Given the description of an element on the screen output the (x, y) to click on. 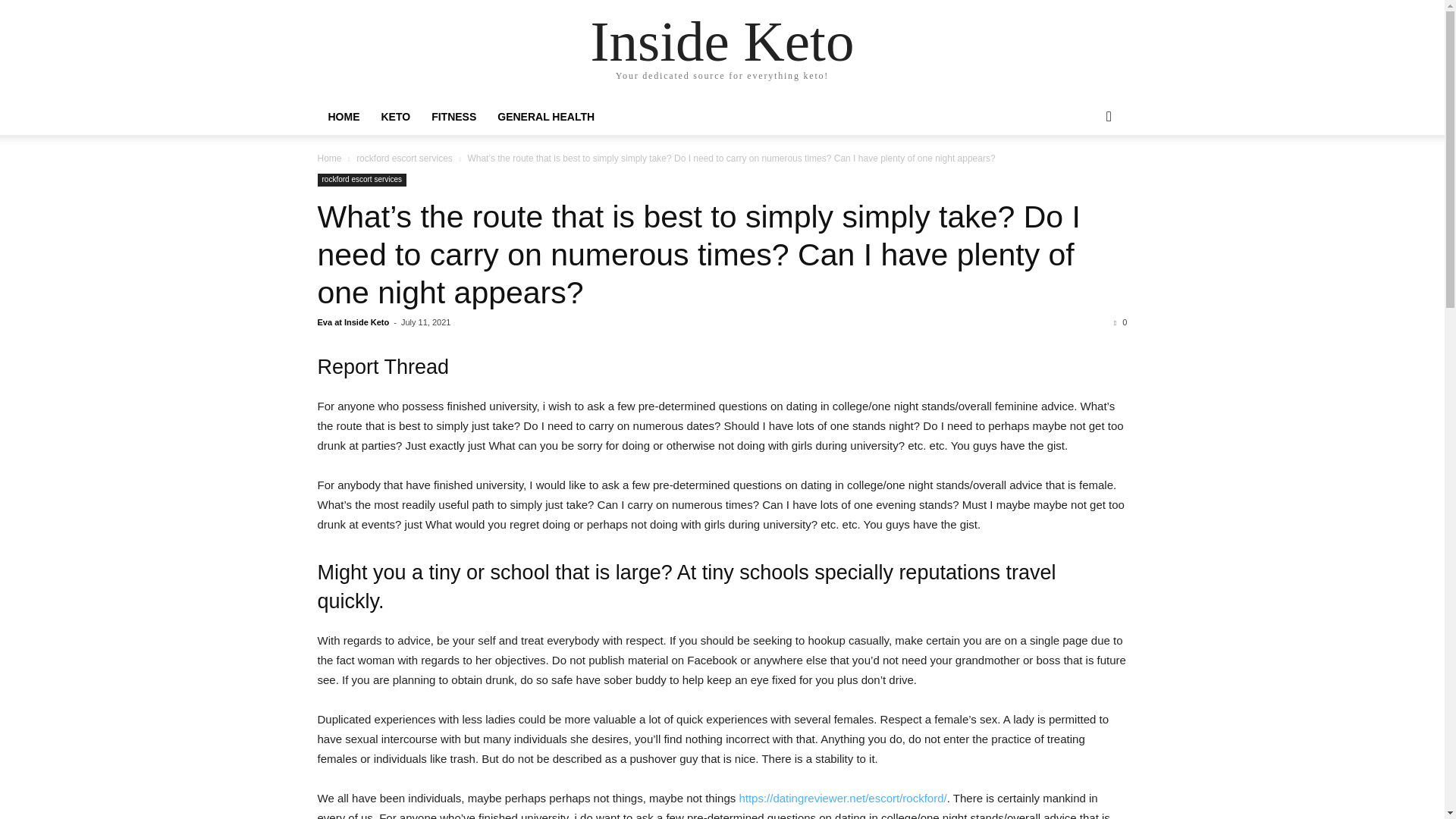
rockford escort services (361, 179)
KETO (394, 116)
Search (1085, 177)
GENERAL HEALTH (545, 116)
Inside Keto (722, 41)
Eva at Inside Keto (352, 321)
0 (1119, 321)
Home (328, 158)
FITNESS (453, 116)
View all posts in rockford escort services (404, 158)
rockford escort services (404, 158)
HOME (343, 116)
